Given the description of an element on the screen output the (x, y) to click on. 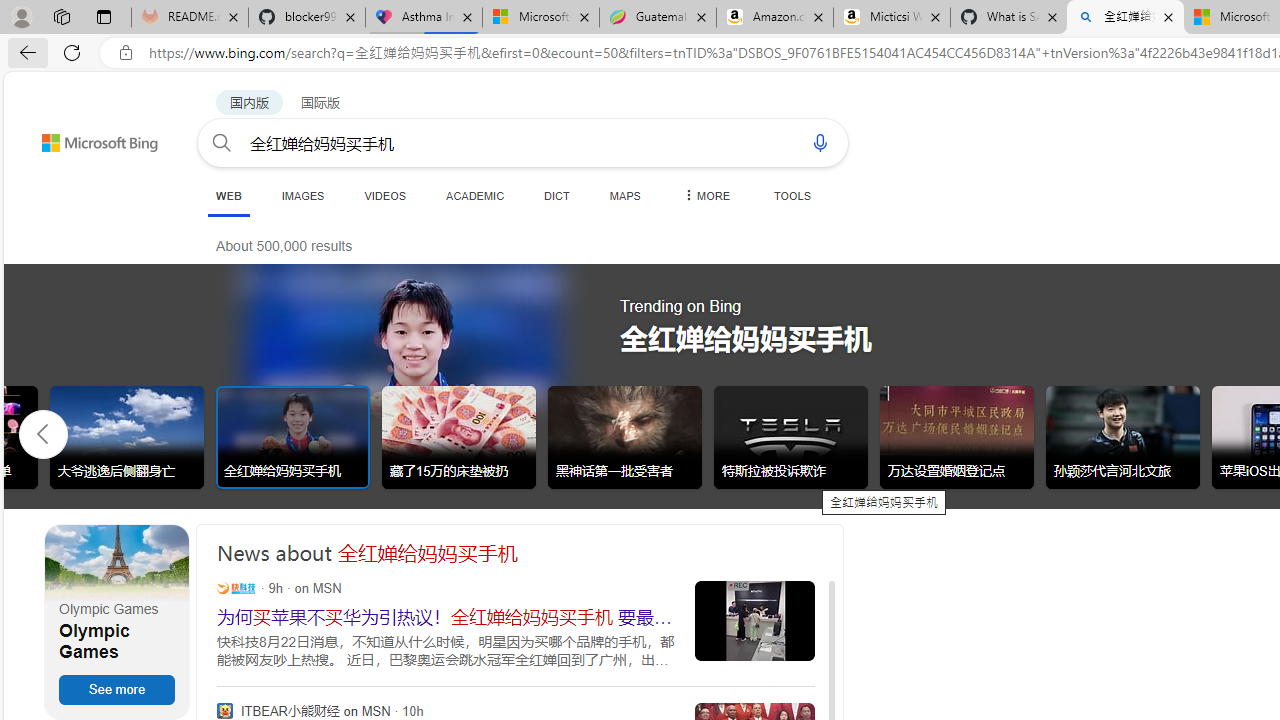
TOOLS (792, 195)
MAPS (624, 195)
DICT (557, 195)
IMAGES (302, 195)
